Given the description of an element on the screen output the (x, y) to click on. 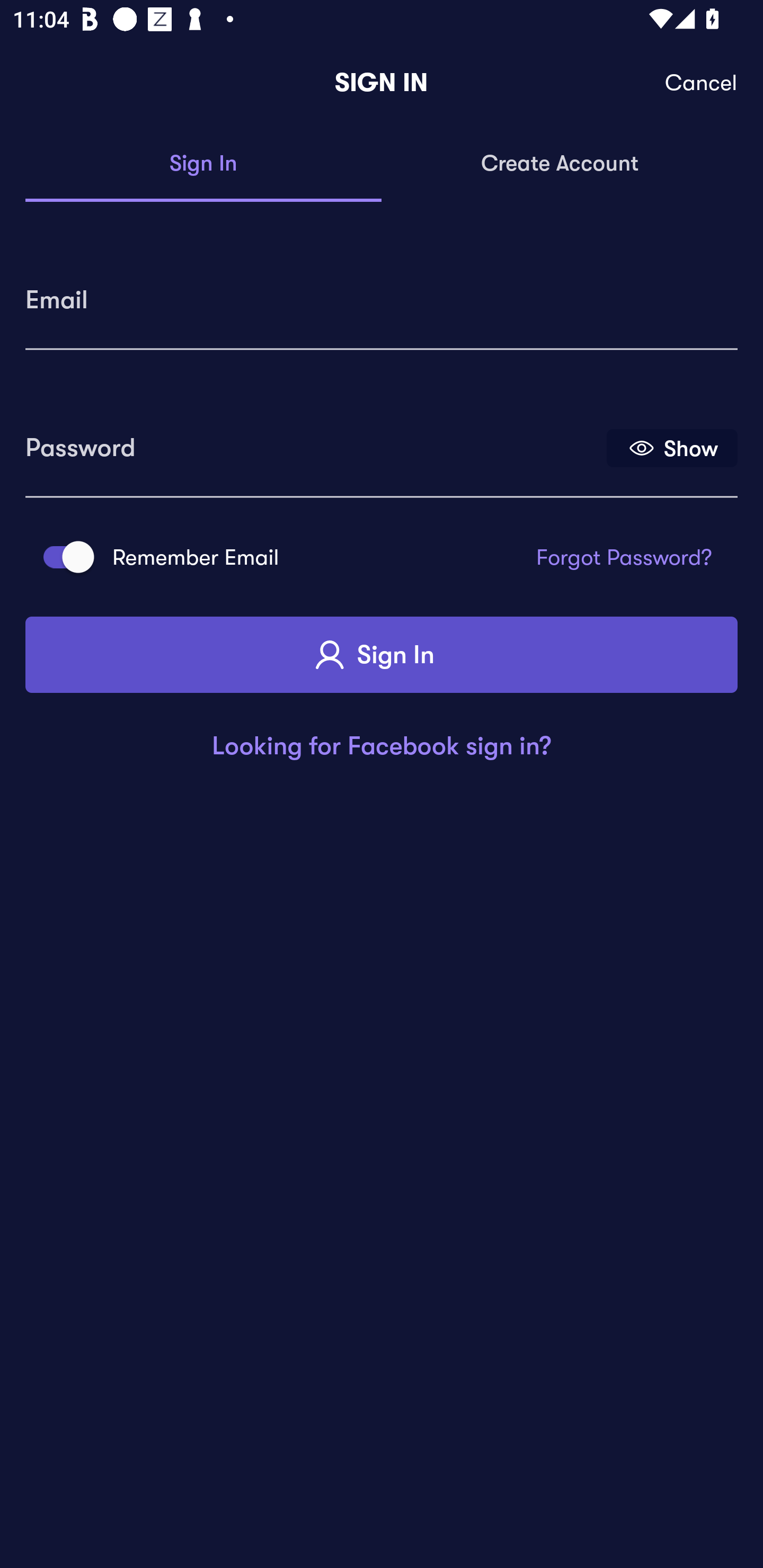
Cancel (701, 82)
Sign In (203, 164)
Create Account (559, 164)
Email (381, 293)
Password (314, 441)
Show Password Show (671, 447)
Remember Email (62, 557)
Sign In (381, 654)
